Given the description of an element on the screen output the (x, y) to click on. 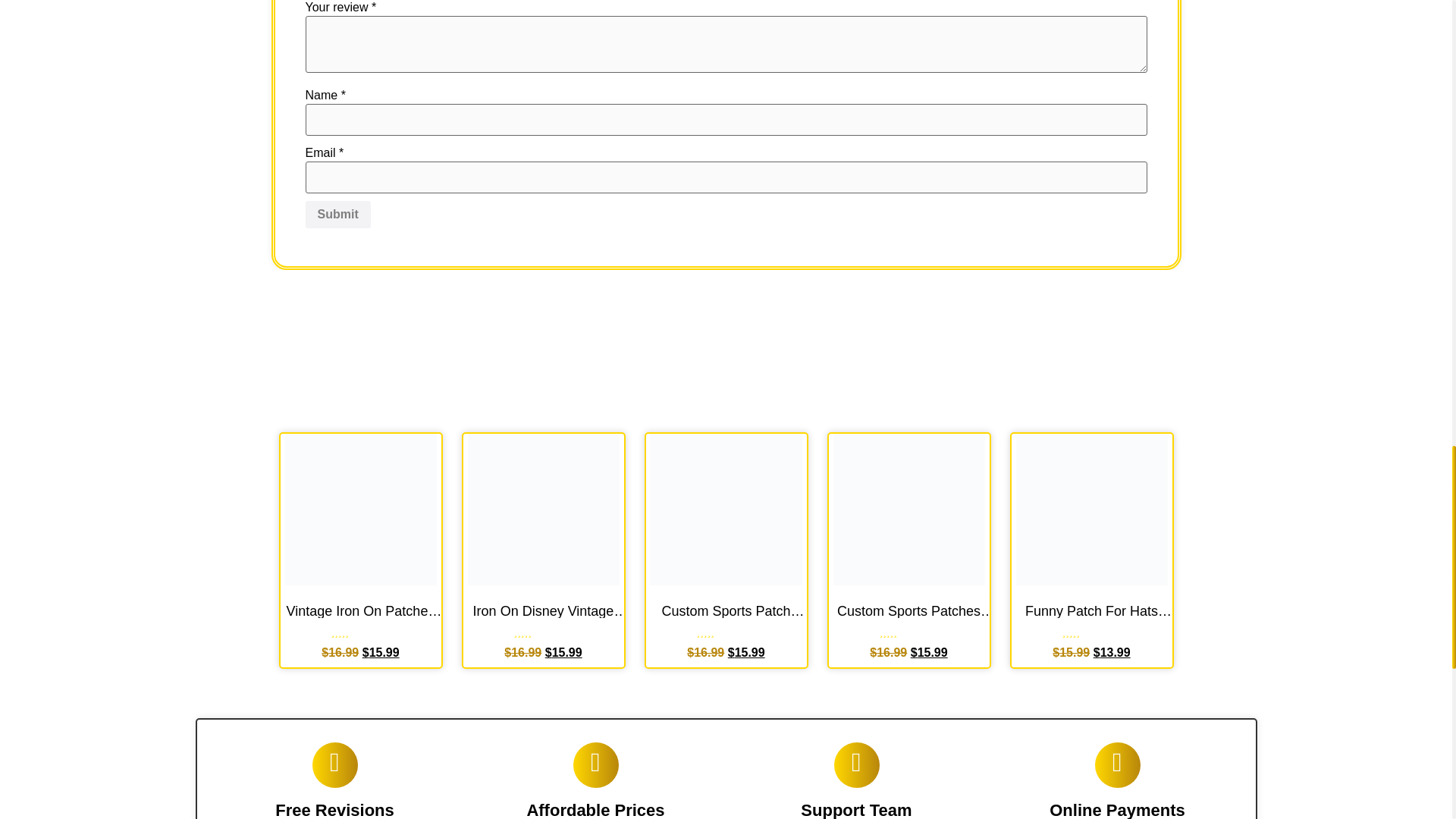
Submit (336, 214)
Submit (336, 214)
Vintage Iron On Patches Timeless Designs (361, 611)
